Given the description of an element on the screen output the (x, y) to click on. 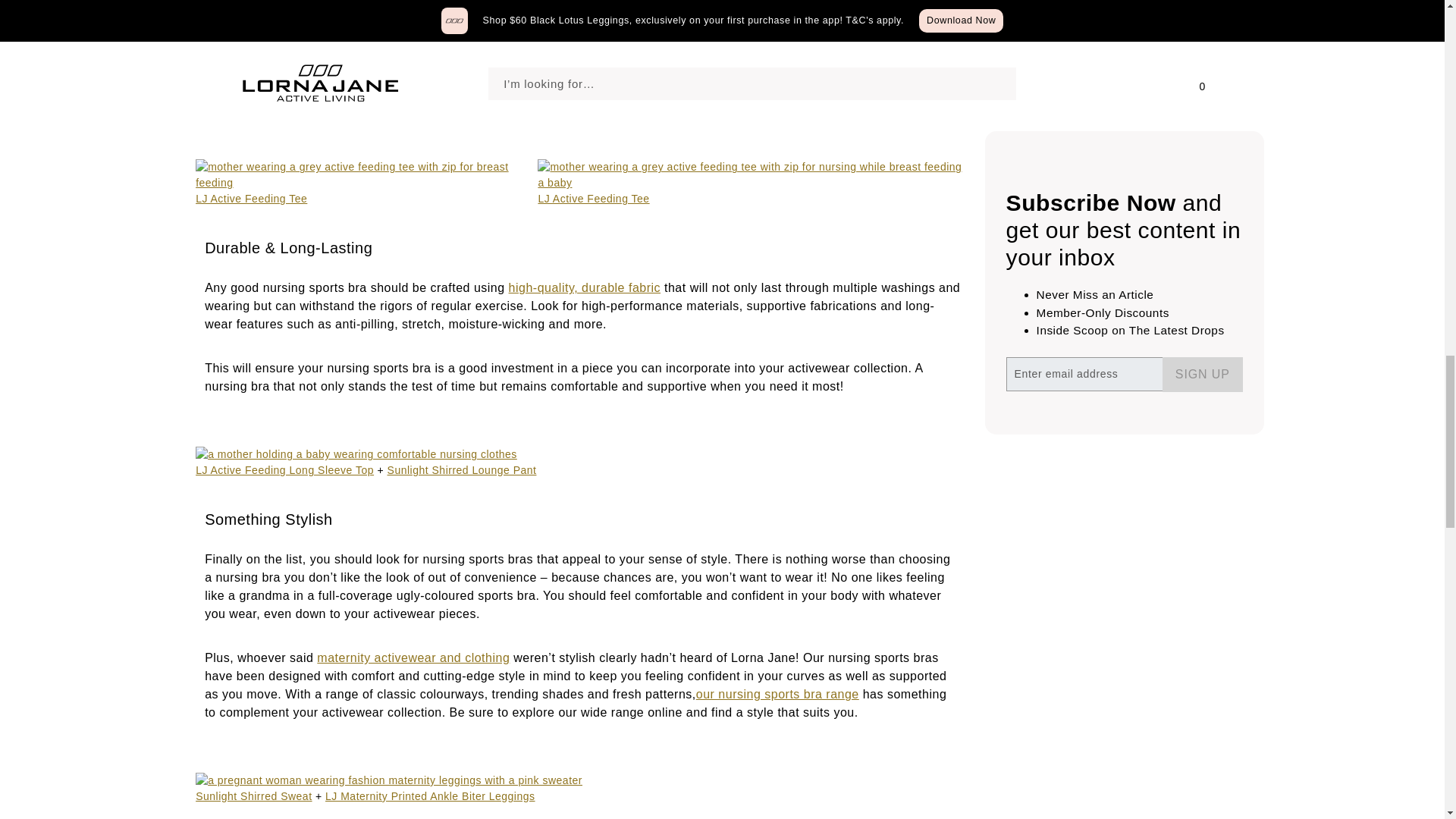
LJ Active Feeding Tee (251, 198)
a mother holding a baby wearing comfortable nursing clothes (355, 454)
LJ Active Feeding Tee (593, 198)
